Given the description of an element on the screen output the (x, y) to click on. 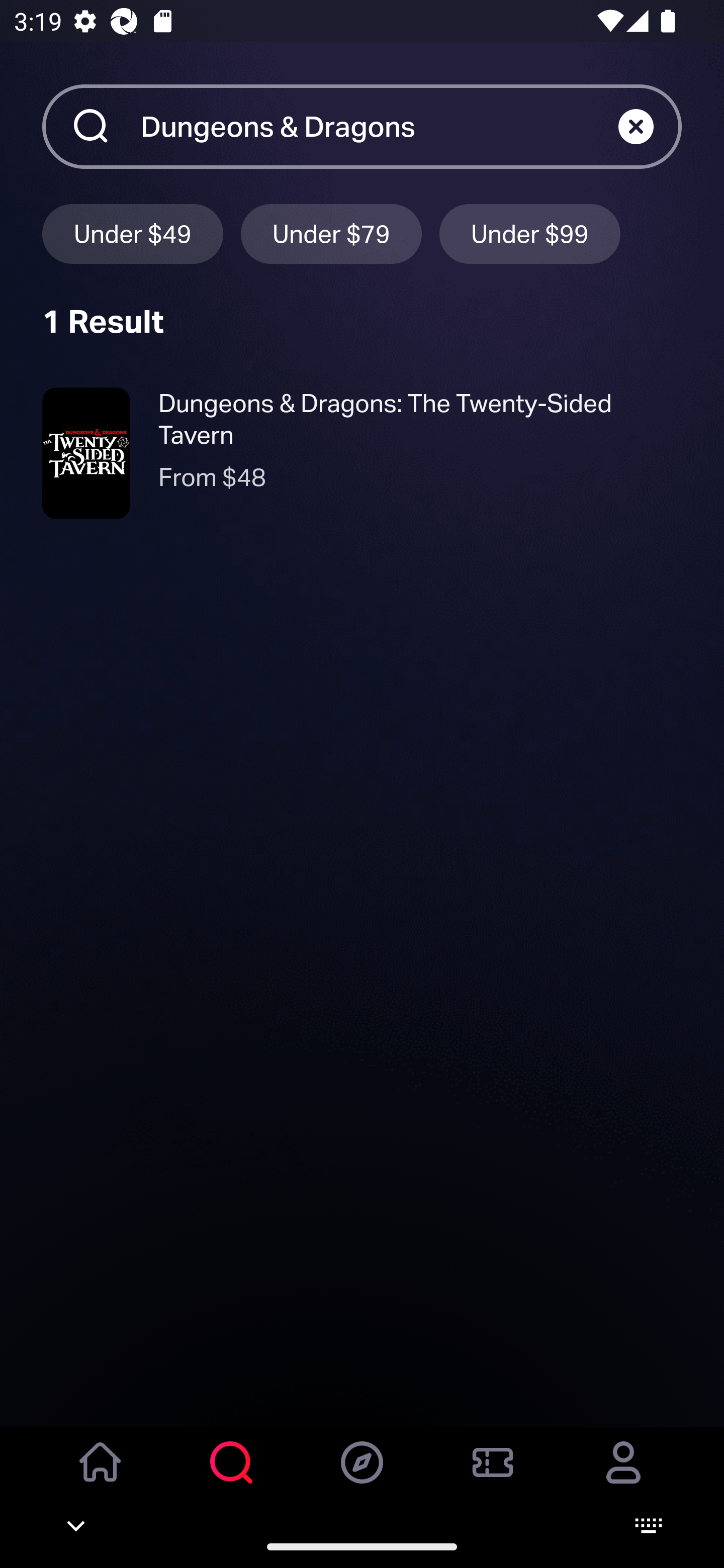
Dungeons & Dragons (379, 126)
Under $49 (131, 233)
Under $79 (331, 233)
Under $99 (529, 233)
Home (100, 1475)
Discover (361, 1475)
Orders (492, 1475)
Account (623, 1475)
